Given the description of an element on the screen output the (x, y) to click on. 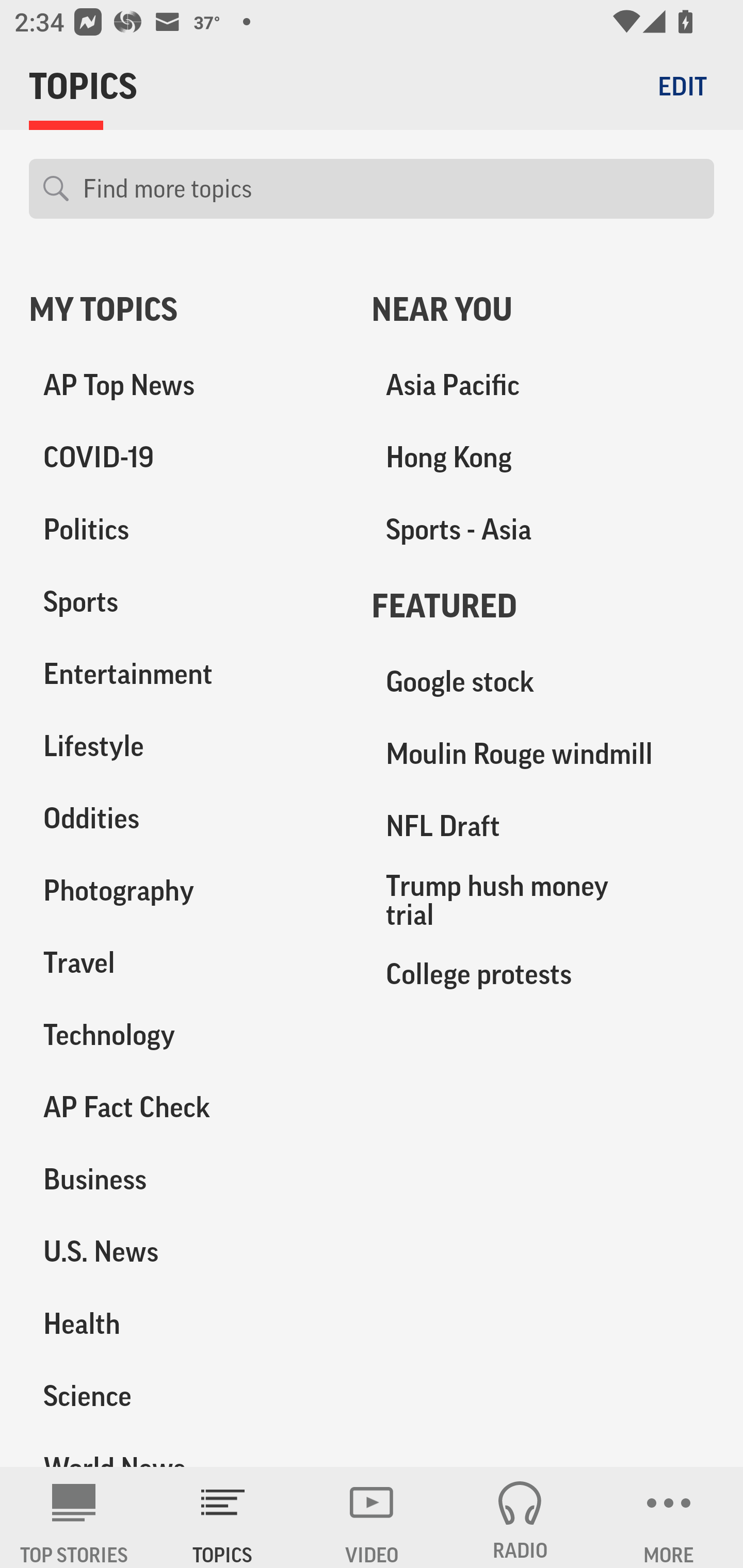
EDIT (682, 86)
Find more topics (391, 188)
AP Top News (185, 385)
Asia Pacific (542, 385)
COVID-19 (185, 457)
Hong Kong (542, 457)
Politics (185, 529)
Sports - Asia (542, 529)
Sports (185, 602)
Entertainment (185, 674)
Google stock (542, 682)
Lifestyle (185, 746)
Moulin Rouge windmill (542, 754)
Oddities (185, 818)
NFL Draft (542, 826)
Photography (185, 890)
Trump hush money trial (542, 899)
Travel (185, 962)
College protests (542, 973)
Technology (185, 1034)
AP Fact Check (185, 1106)
Business (185, 1179)
U.S. News (185, 1251)
Health (185, 1323)
Science (185, 1395)
AP News TOP STORIES (74, 1517)
TOPICS (222, 1517)
VIDEO (371, 1517)
RADIO (519, 1517)
MORE (668, 1517)
